Given the description of an element on the screen output the (x, y) to click on. 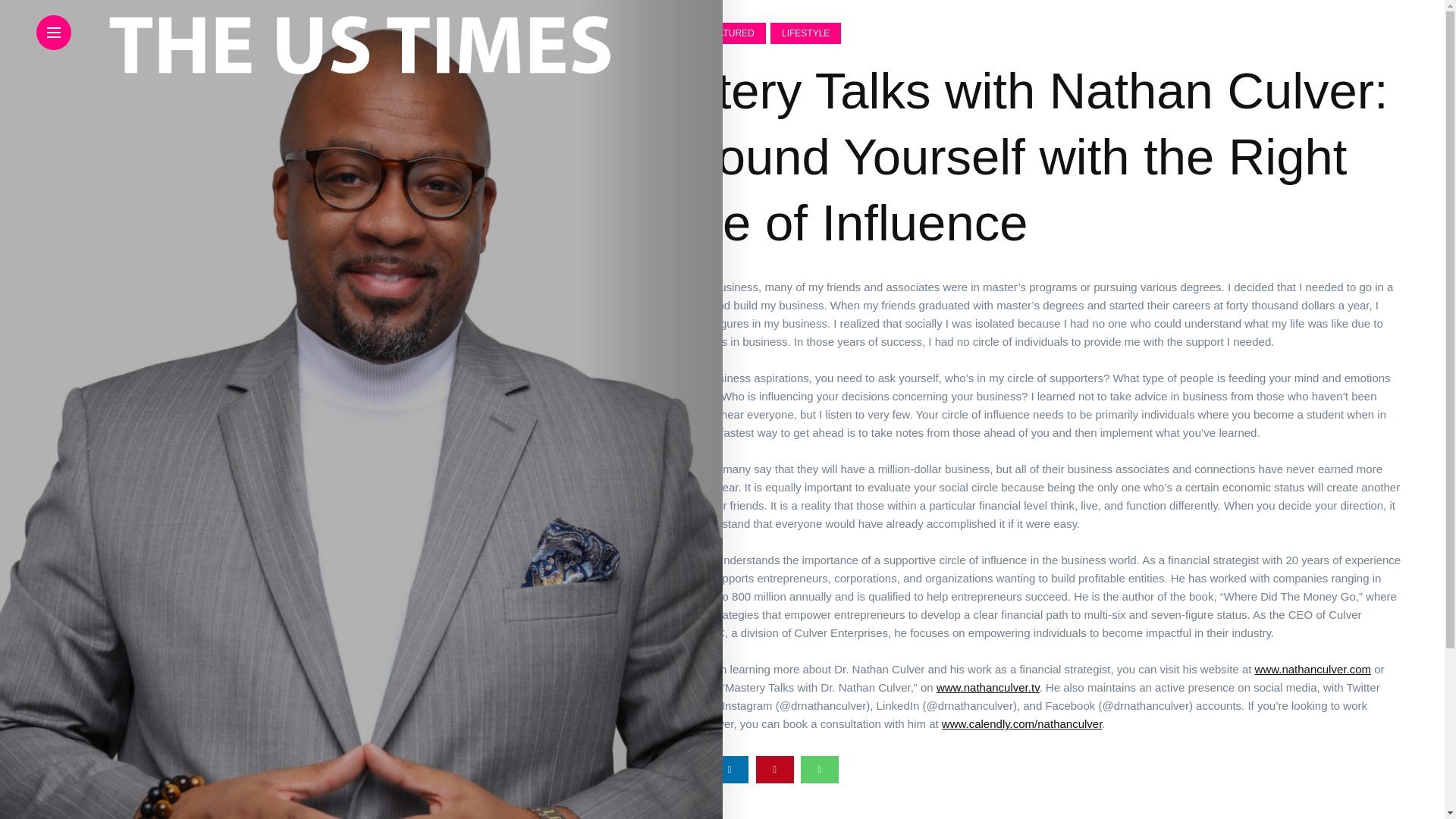
www.nathanculver.com (1261, 668)
facebook (640, 768)
www.nathanculver.tv (958, 686)
LIFESTYLE (724, 33)
FEATURED (630, 33)
BUSINESS (511, 33)
